Given the description of an element on the screen output the (x, y) to click on. 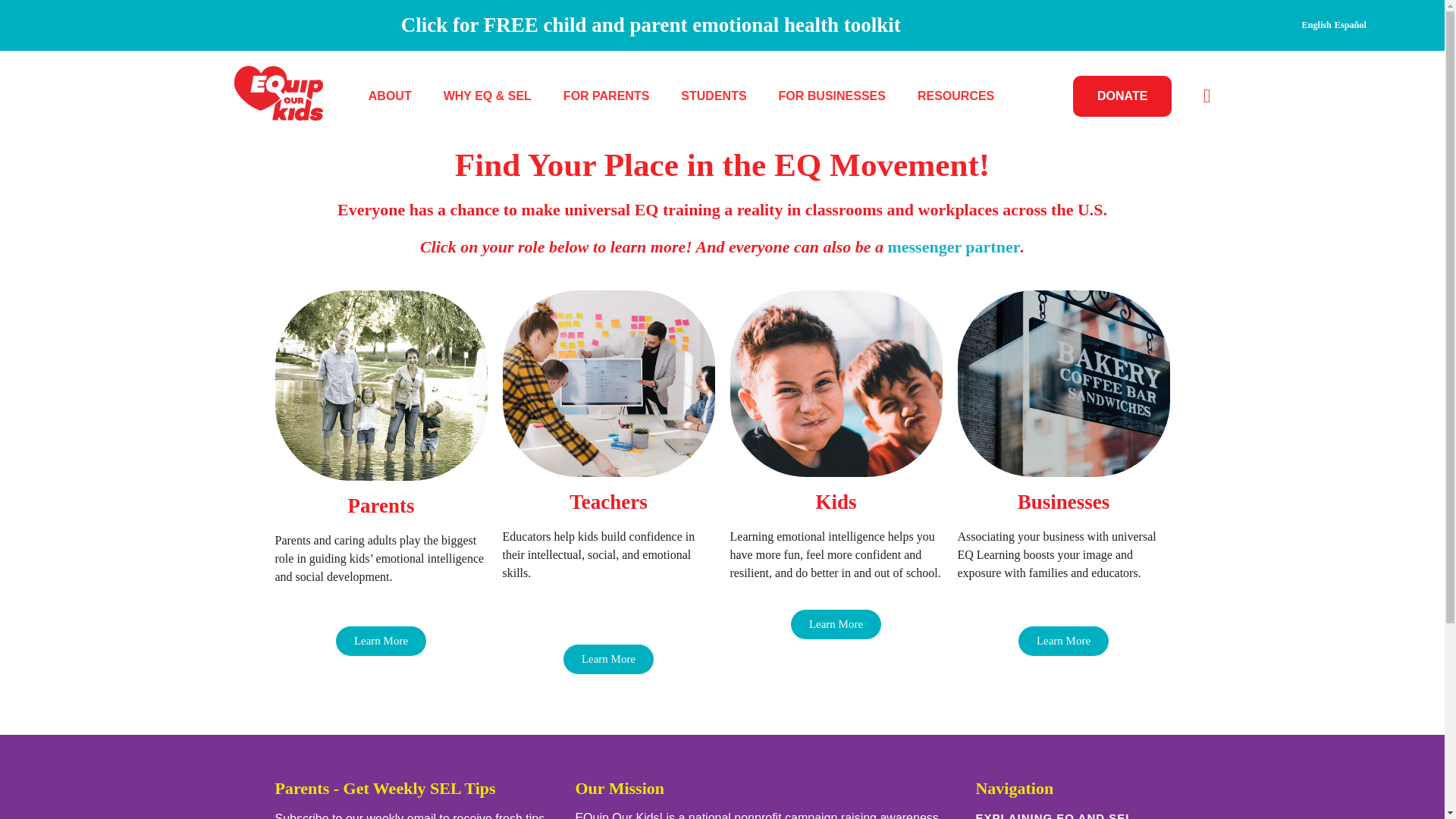
ABOUT (398, 96)
FOR BUSINESSES (831, 96)
English (1315, 24)
STUDENTS (713, 96)
Click for FREE child and parent emotional health toolkit (651, 24)
Parents (380, 505)
Equip Our Kids! (302, 128)
FOR PARENTS (606, 96)
DONATE (1122, 96)
Equip Our Kids! (276, 93)
RESOURCES (947, 96)
Equip Our Kids! (302, 128)
messenger partner (953, 246)
